Given the description of an element on the screen output the (x, y) to click on. 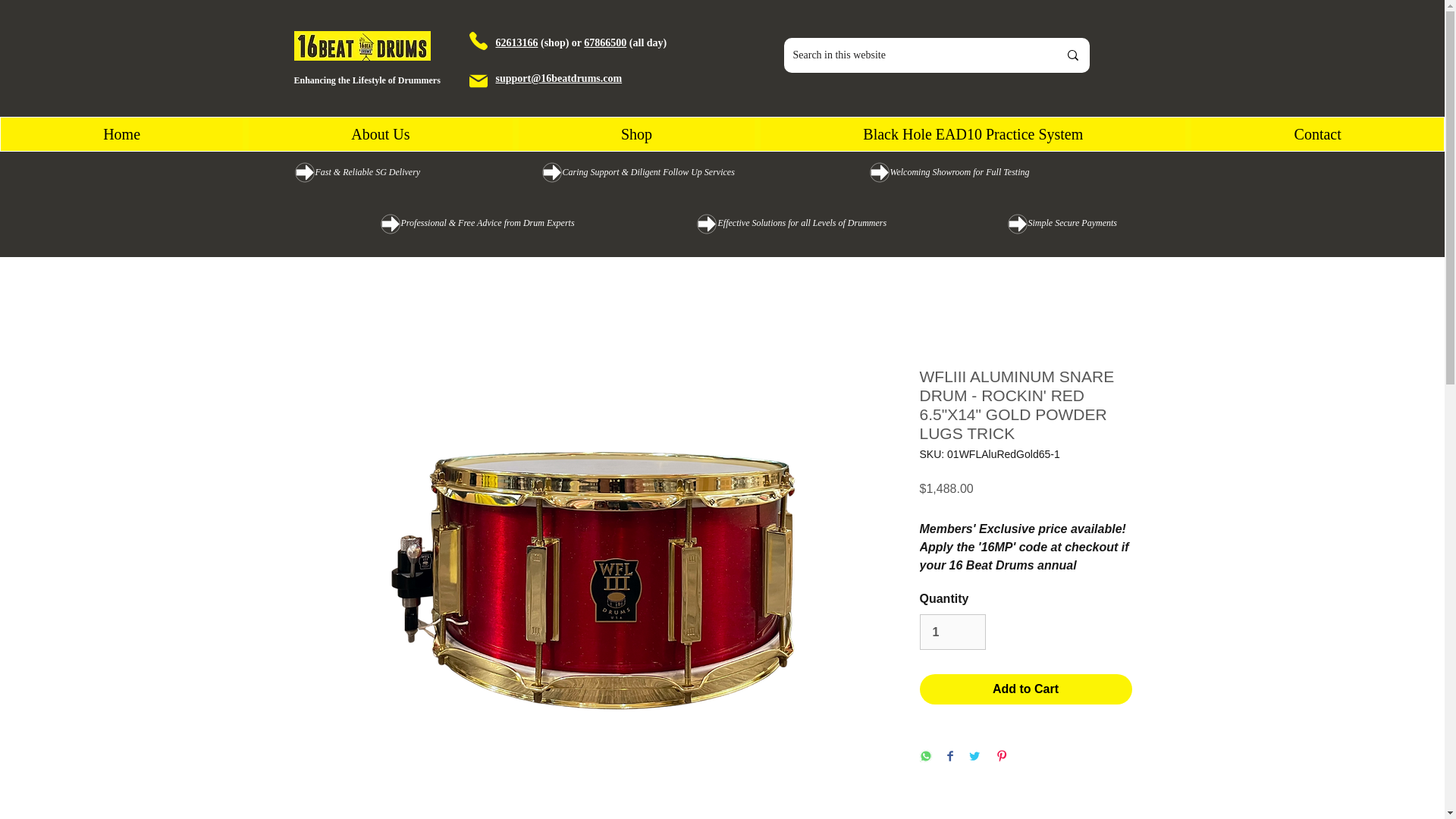
Shop (636, 133)
About Us (380, 133)
67866500 (604, 42)
1 (951, 631)
Contact (1317, 133)
Black Hole EAD10 Practice System (972, 133)
Home (122, 133)
Add to Cart (1024, 689)
